Given the description of an element on the screen output the (x, y) to click on. 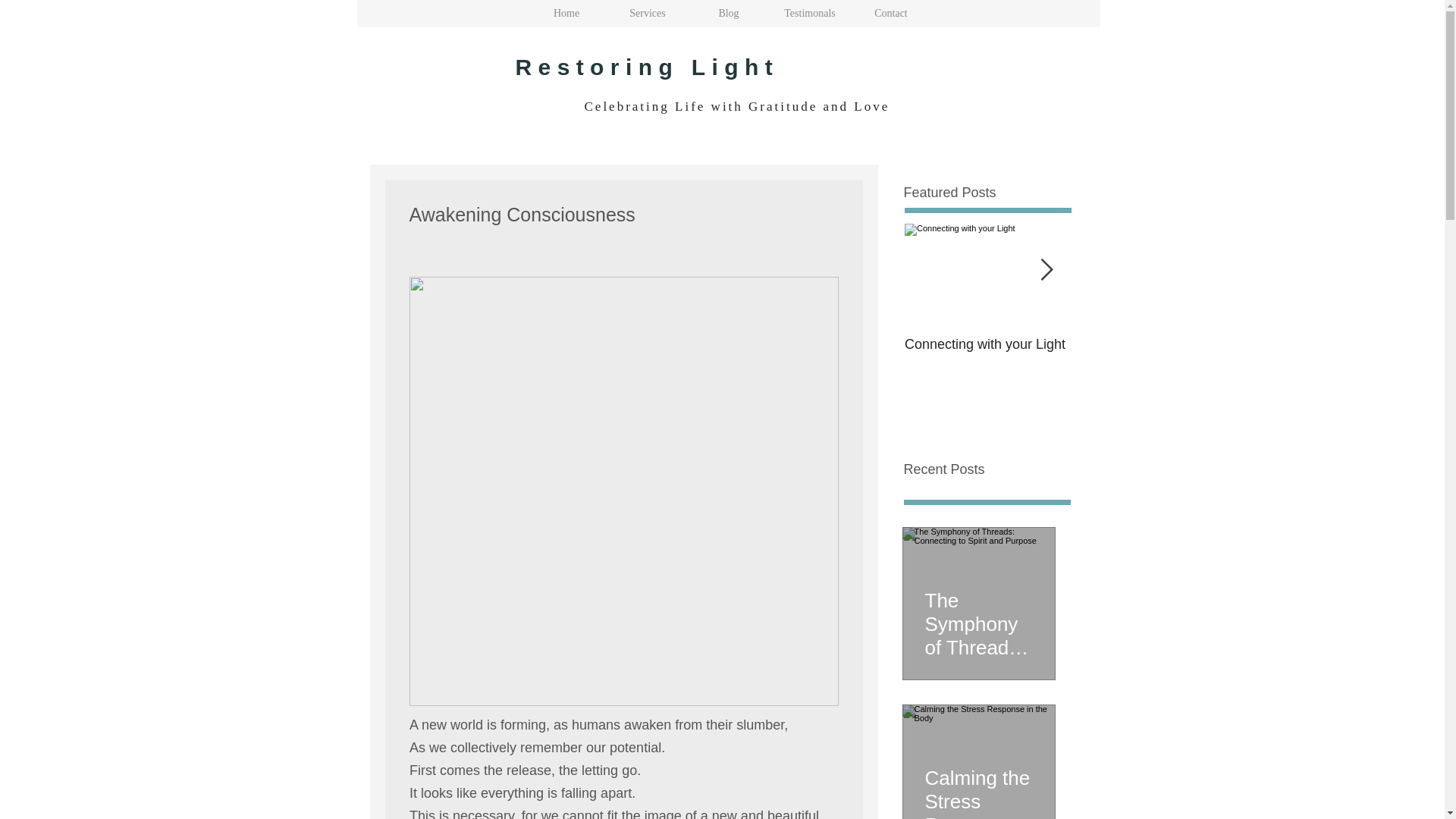
Calming the Stress Response in the Body (978, 785)
Services (647, 13)
Connecting with your Light (987, 344)
Blog (727, 13)
Home (566, 13)
Contact (890, 13)
The Symphony of Threads: Connecting to Spirit and Purpose (978, 617)
Our Stories Reveal Our Journeys (1153, 352)
Testimonals (809, 13)
